Given the description of an element on the screen output the (x, y) to click on. 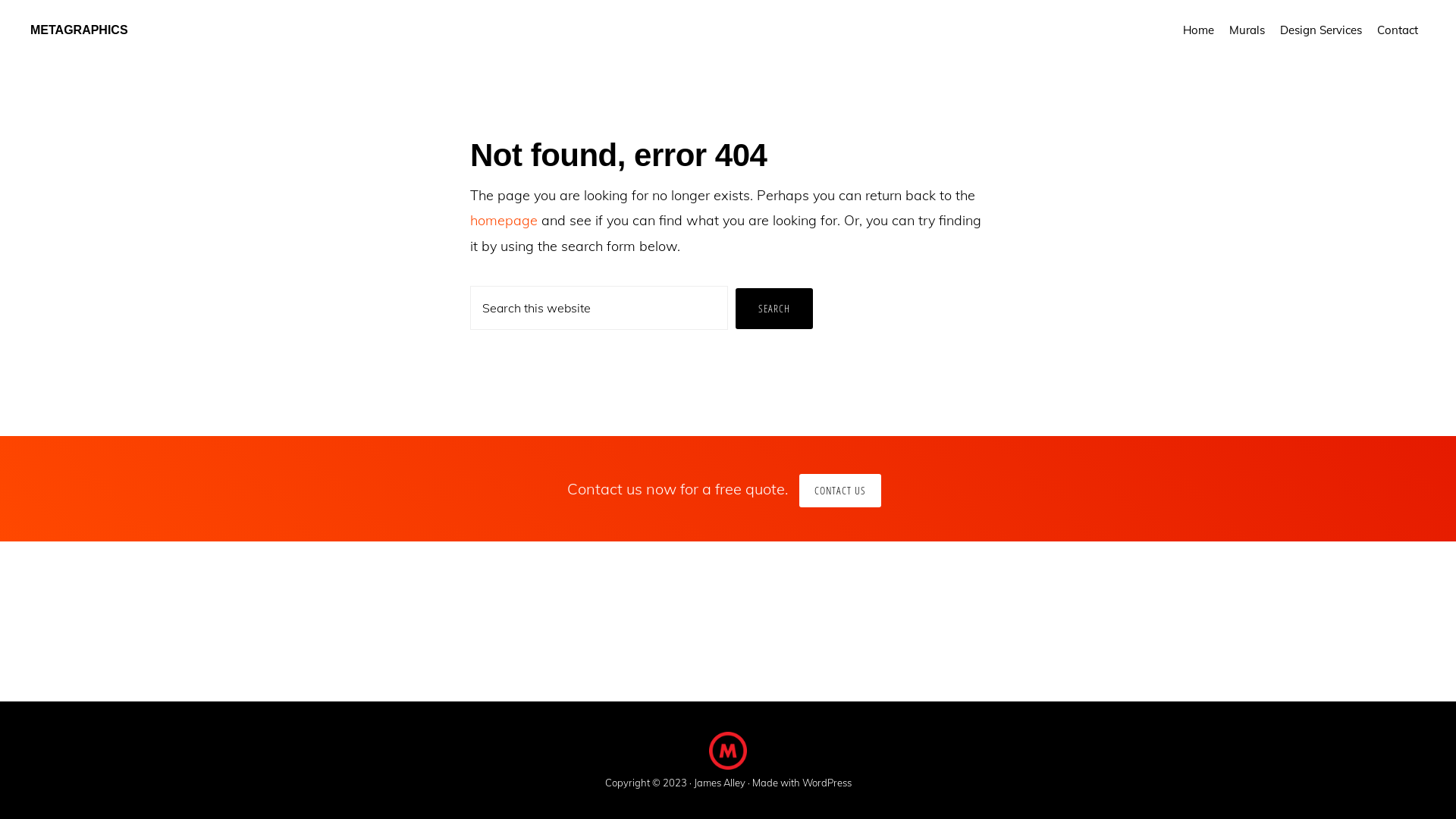
Search Element type: text (773, 308)
Skip to primary navigation Element type: text (0, 0)
homepage Element type: text (503, 220)
James Alley Element type: text (718, 783)
Design Services Element type: text (1320, 29)
METAGRAPHICS Element type: text (79, 29)
CONTACT US Element type: text (840, 490)
Contact Element type: text (1397, 29)
Home Element type: text (1198, 29)
WordPress Element type: text (826, 783)
Murals Element type: text (1246, 29)
